Given the description of an element on the screen output the (x, y) to click on. 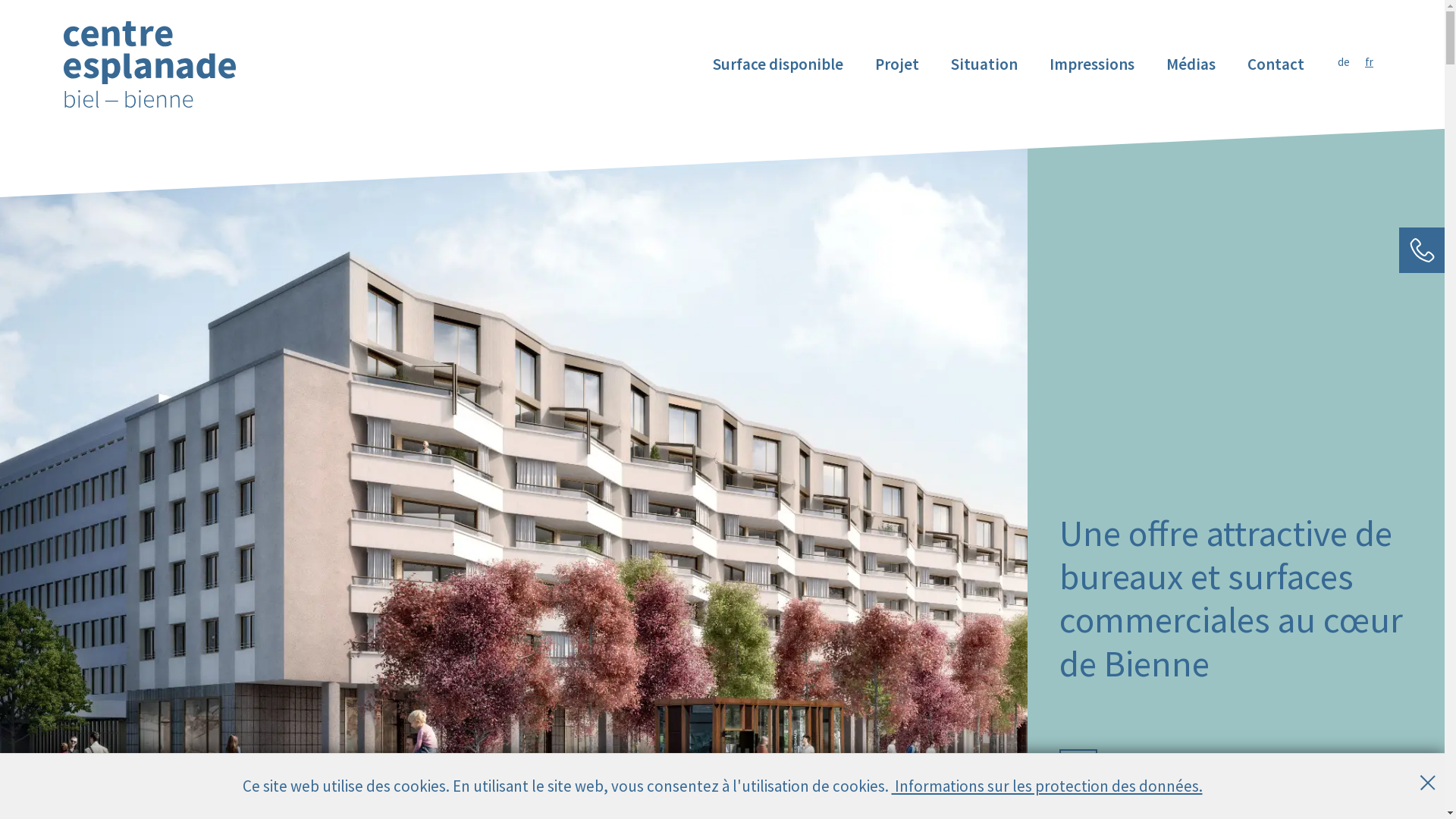
Projet Element type: text (897, 64)
fr Element type: text (1365, 62)
Surface disponible Element type: text (777, 64)
Impressions Element type: text (1091, 64)
Situation Element type: text (984, 64)
de Element type: text (1347, 62)
Zur Startseite Element type: hover (149, 64)
Contact Element type: text (1275, 64)
